Given the description of an element on the screen output the (x, y) to click on. 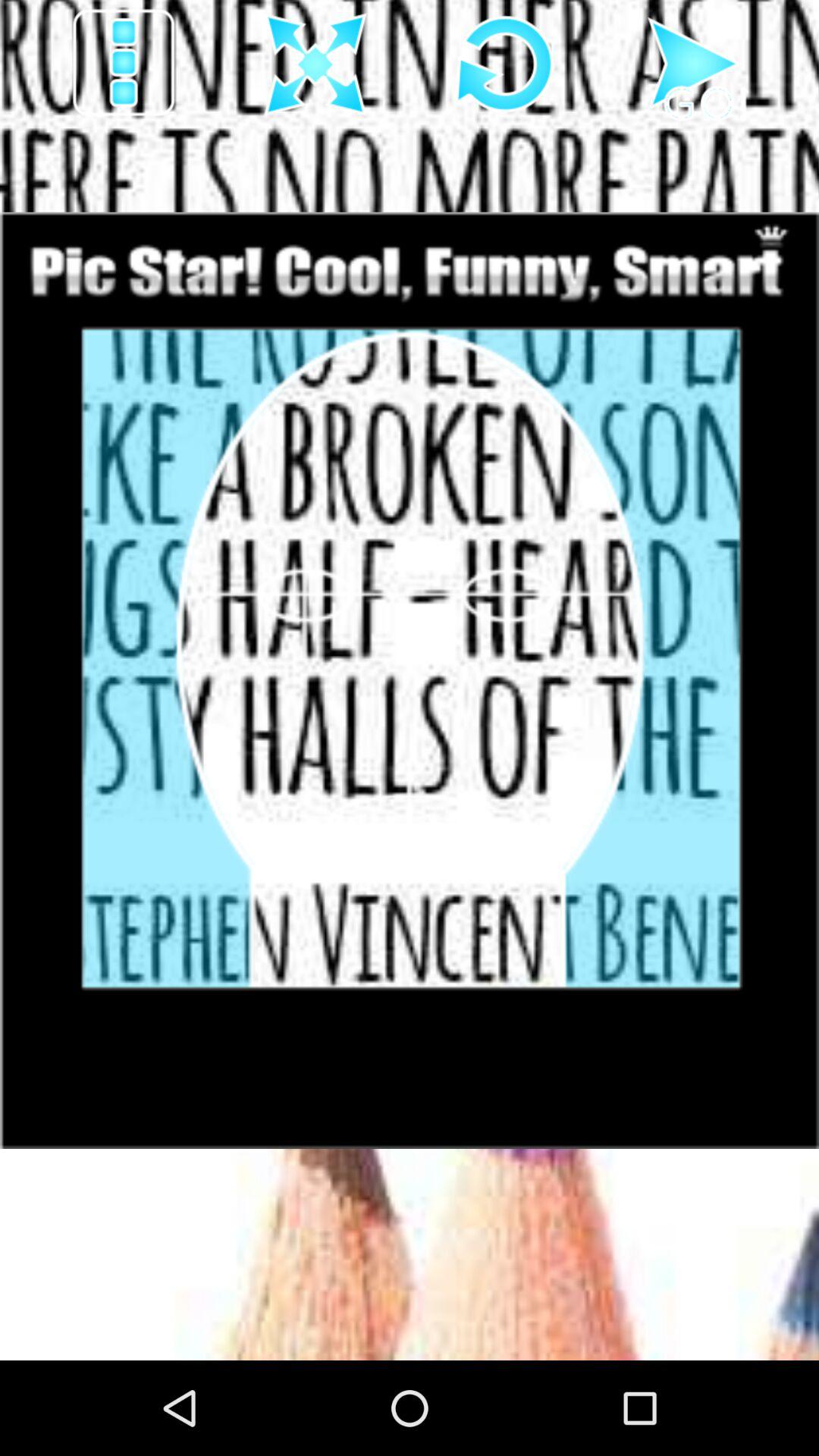
go forward (694, 64)
